Given the description of an element on the screen output the (x, y) to click on. 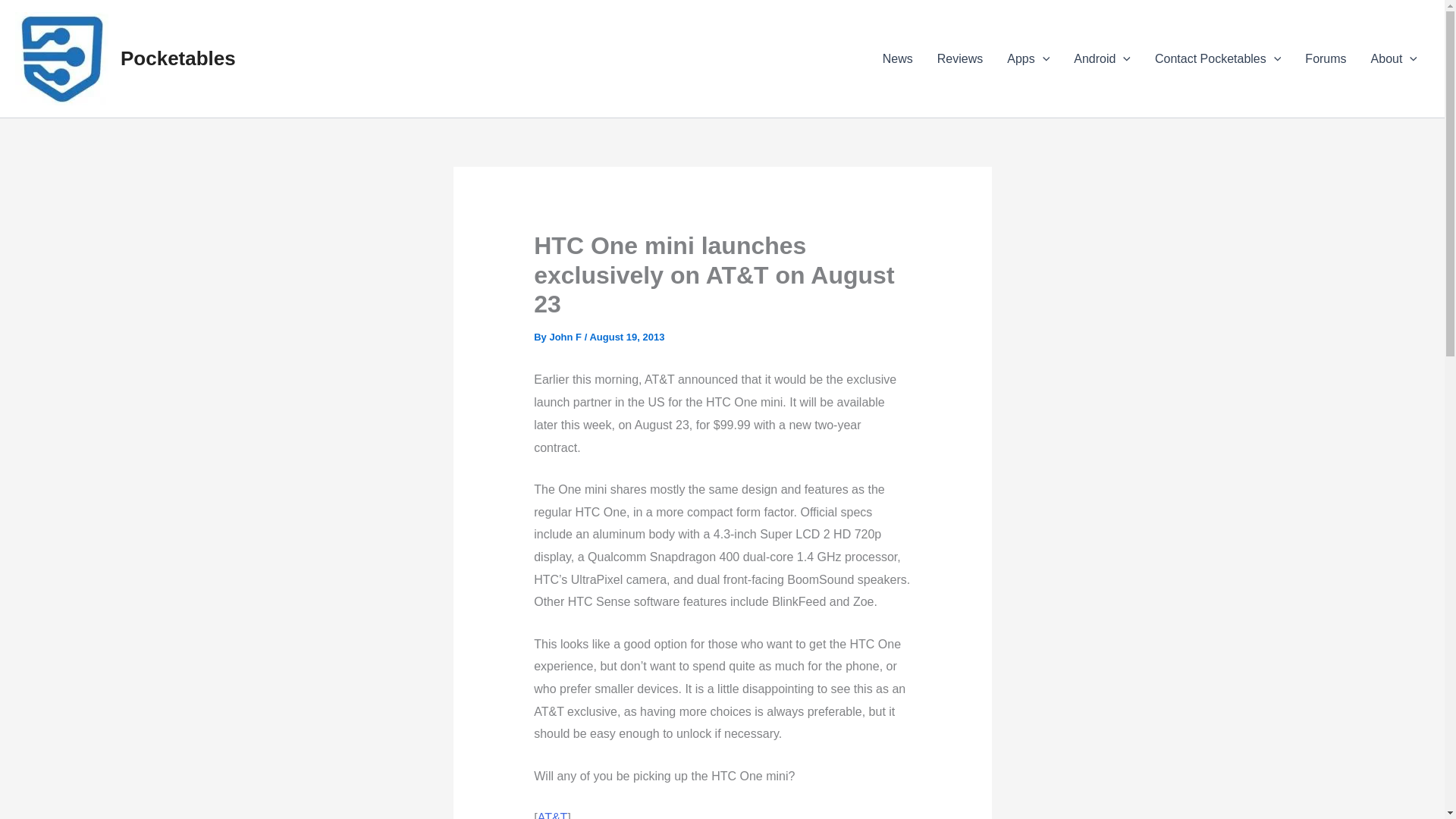
Android (1101, 58)
Reviews (959, 58)
Forums (1325, 58)
News (897, 58)
Apps (1027, 58)
Pocketables (177, 57)
About (1393, 58)
View all posts by John F (564, 337)
Contact Pocketables (1217, 58)
